Given the description of an element on the screen output the (x, y) to click on. 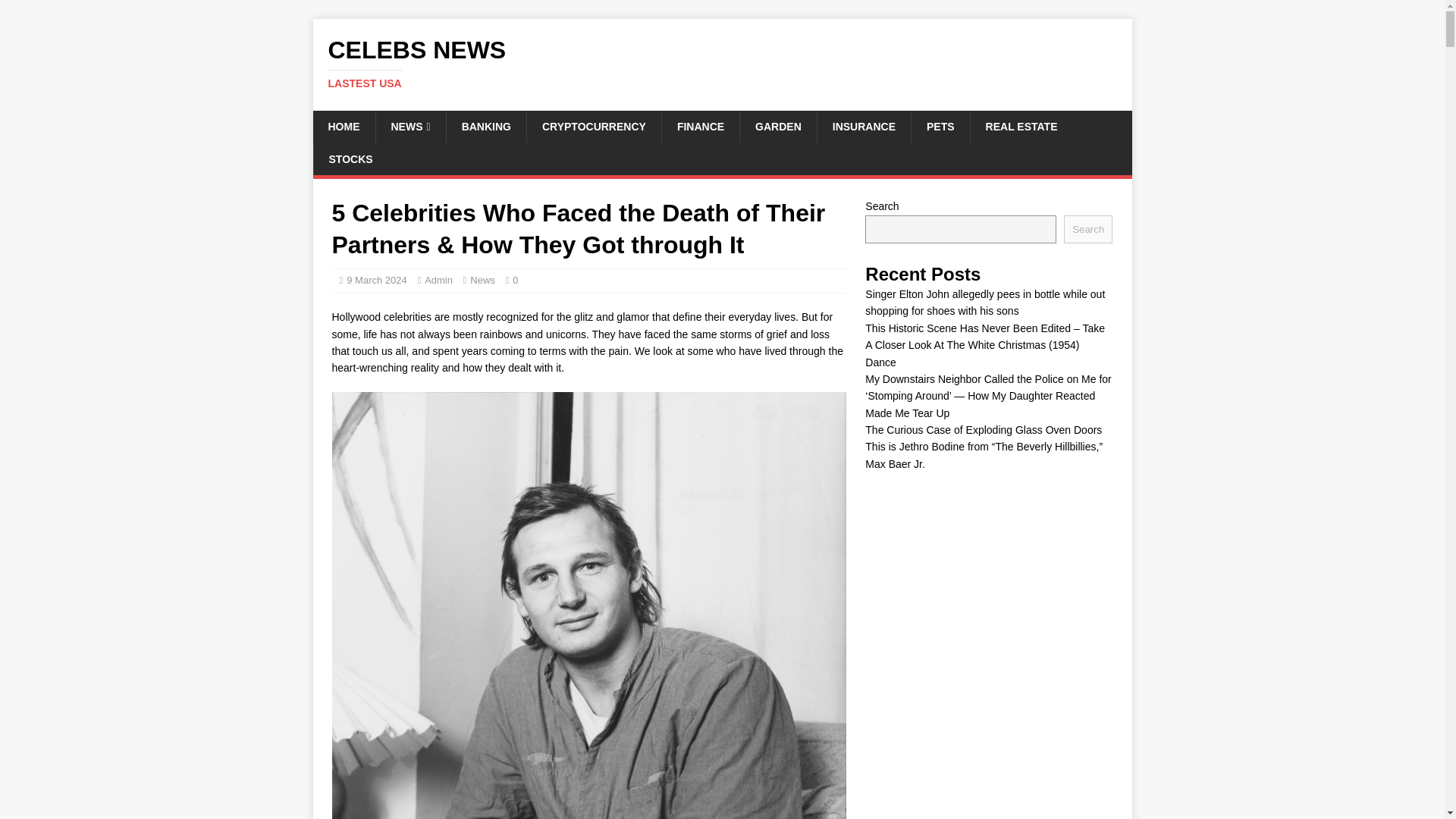
CRYPTOCURRENCY (593, 126)
REAL ESTATE (1021, 126)
GARDEN (777, 126)
INSURANCE (863, 126)
9 March 2024 (376, 279)
HOME (721, 63)
News (343, 126)
PETS (482, 279)
BANKING (940, 126)
